Given the description of an element on the screen output the (x, y) to click on. 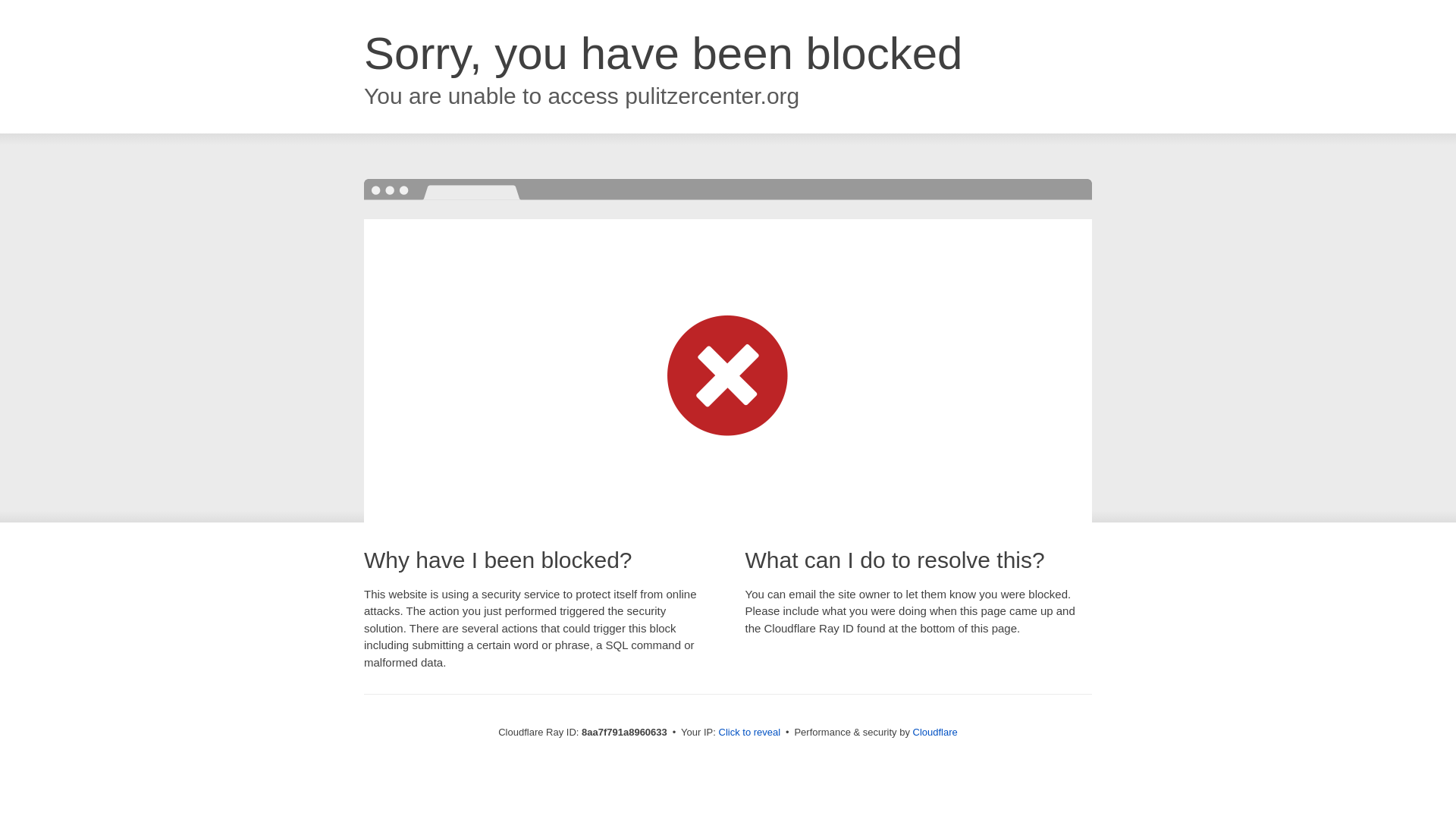
Cloudflare (935, 731)
Click to reveal (749, 732)
